Given the description of an element on the screen output the (x, y) to click on. 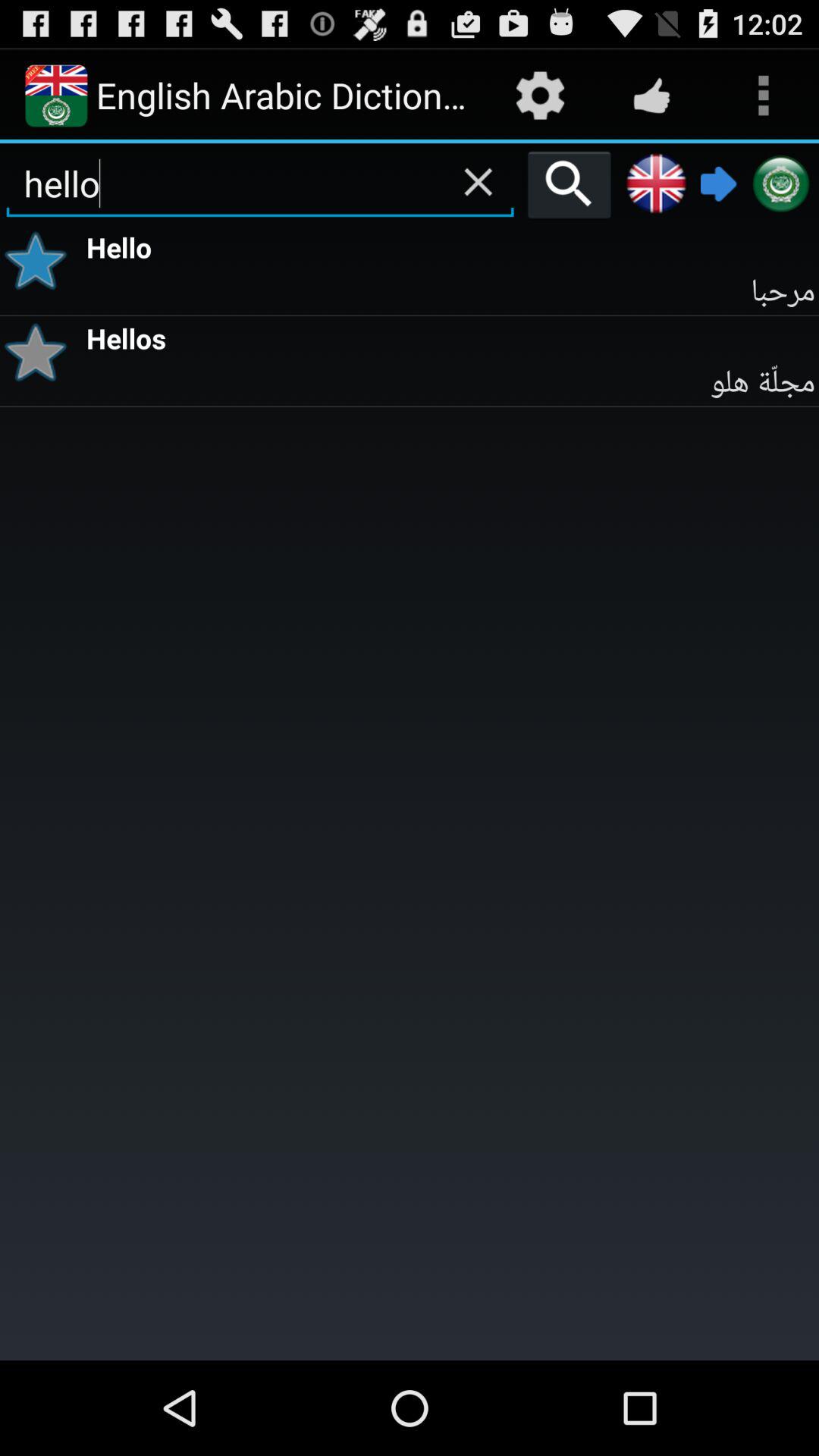
launch item next to the hello icon (569, 184)
